Given the description of an element on the screen output the (x, y) to click on. 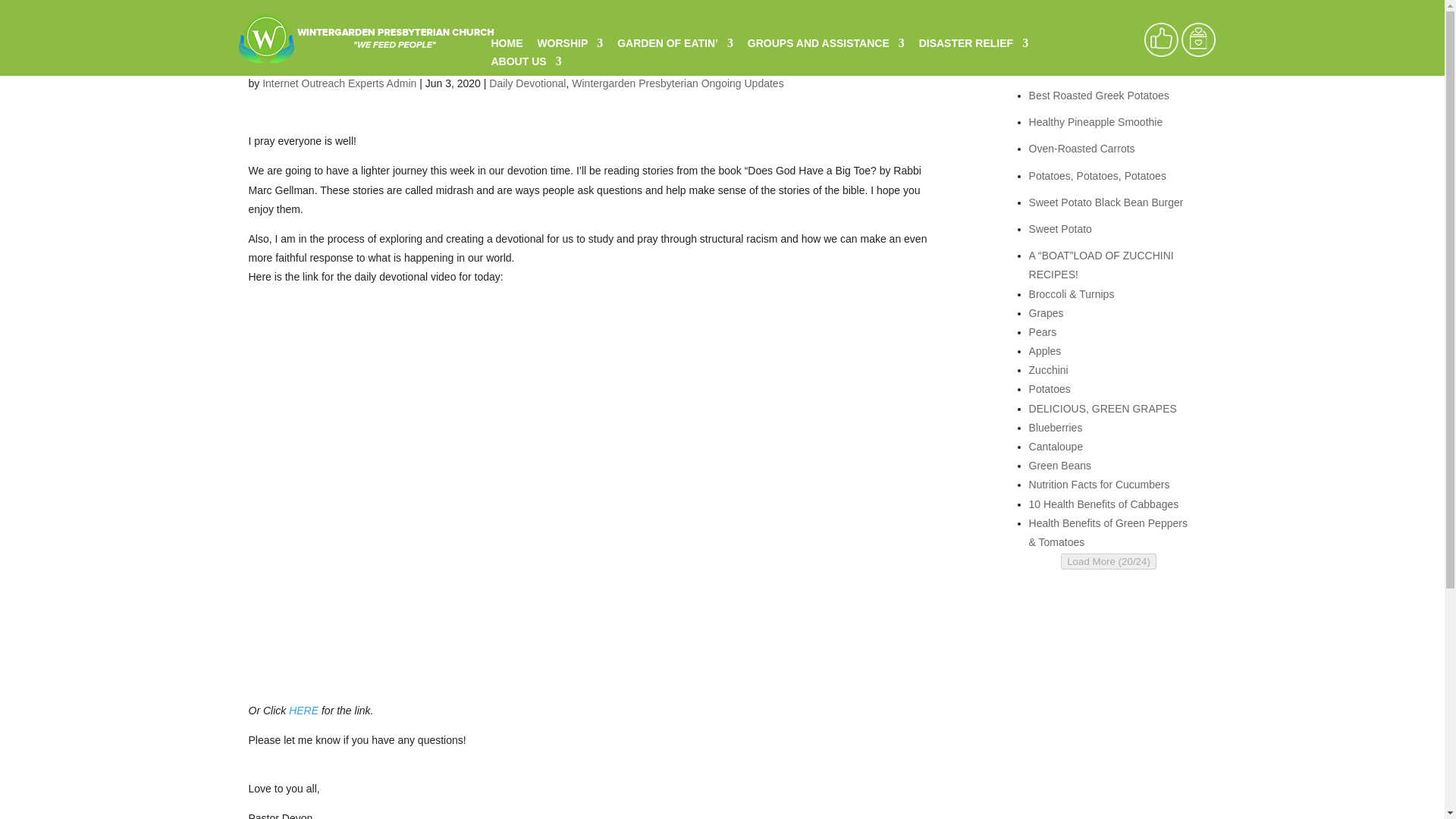
GROUPS AND ASSISTANCE (826, 46)
WORSHIP (569, 46)
Posts by Internet Outreach Experts Admin (339, 82)
DISASTER RELIEF (972, 46)
ABOUT US (527, 65)
HOME (507, 46)
